Given the description of an element on the screen output the (x, y) to click on. 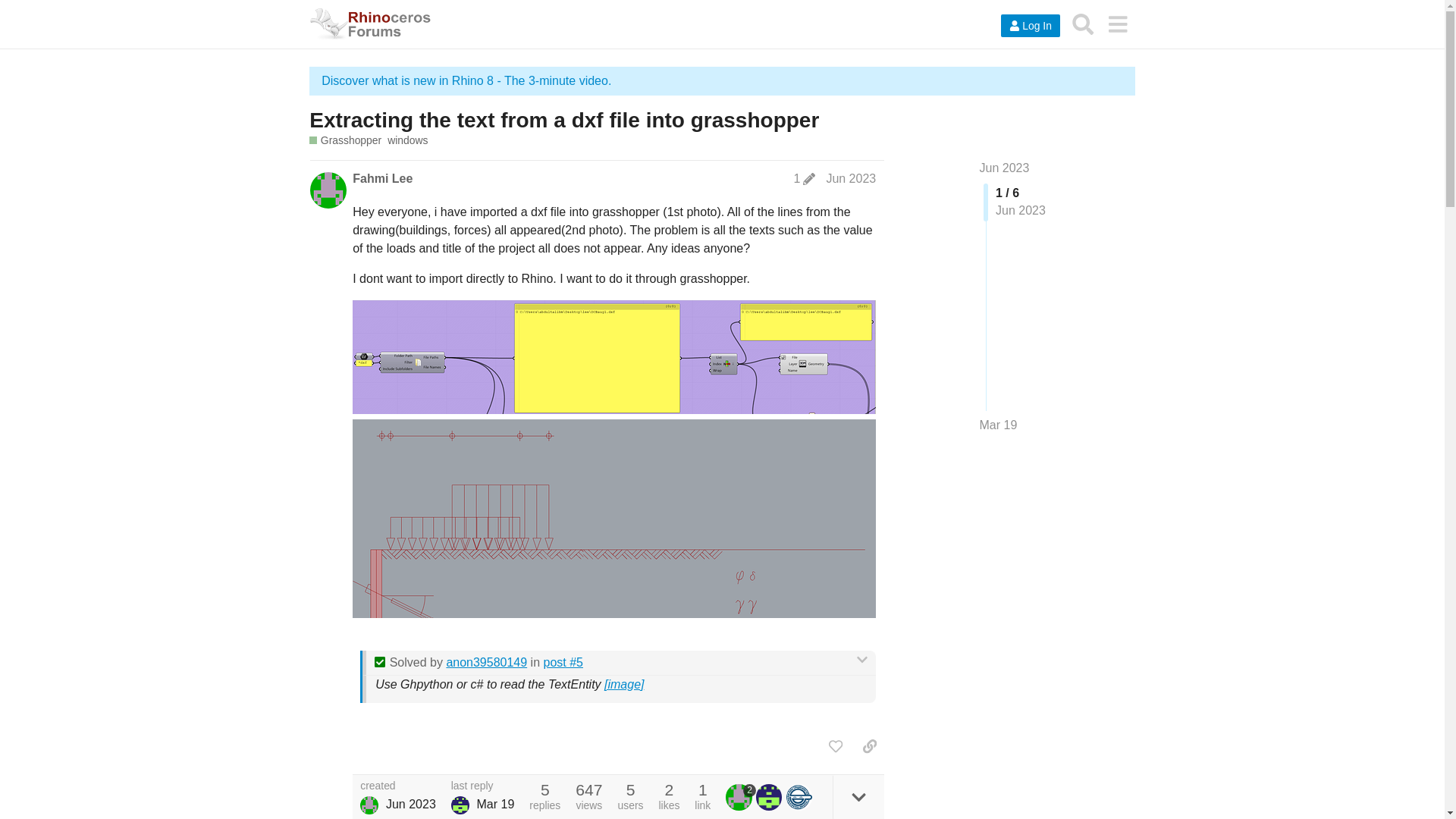
expand topic details (857, 796)
copy a link to this post to clipboard (869, 746)
Fahmi Lee (382, 178)
Jun 2023 (1004, 167)
Jump to the first post (1004, 167)
post last edited on Jun 28, 2023 12:51 am (804, 178)
Mar 19 (998, 425)
1 (804, 178)
Add a new topic to this category related to Grasshopper. (344, 140)
like this post (835, 746)
image (623, 684)
last reply (483, 786)
Discover what is new in Rhino 8 - The 3-minute video. (466, 80)
Fahmi Lee (368, 805)
Extracting the text from a dxf file into grasshopper (563, 119)
